Given the description of an element on the screen output the (x, y) to click on. 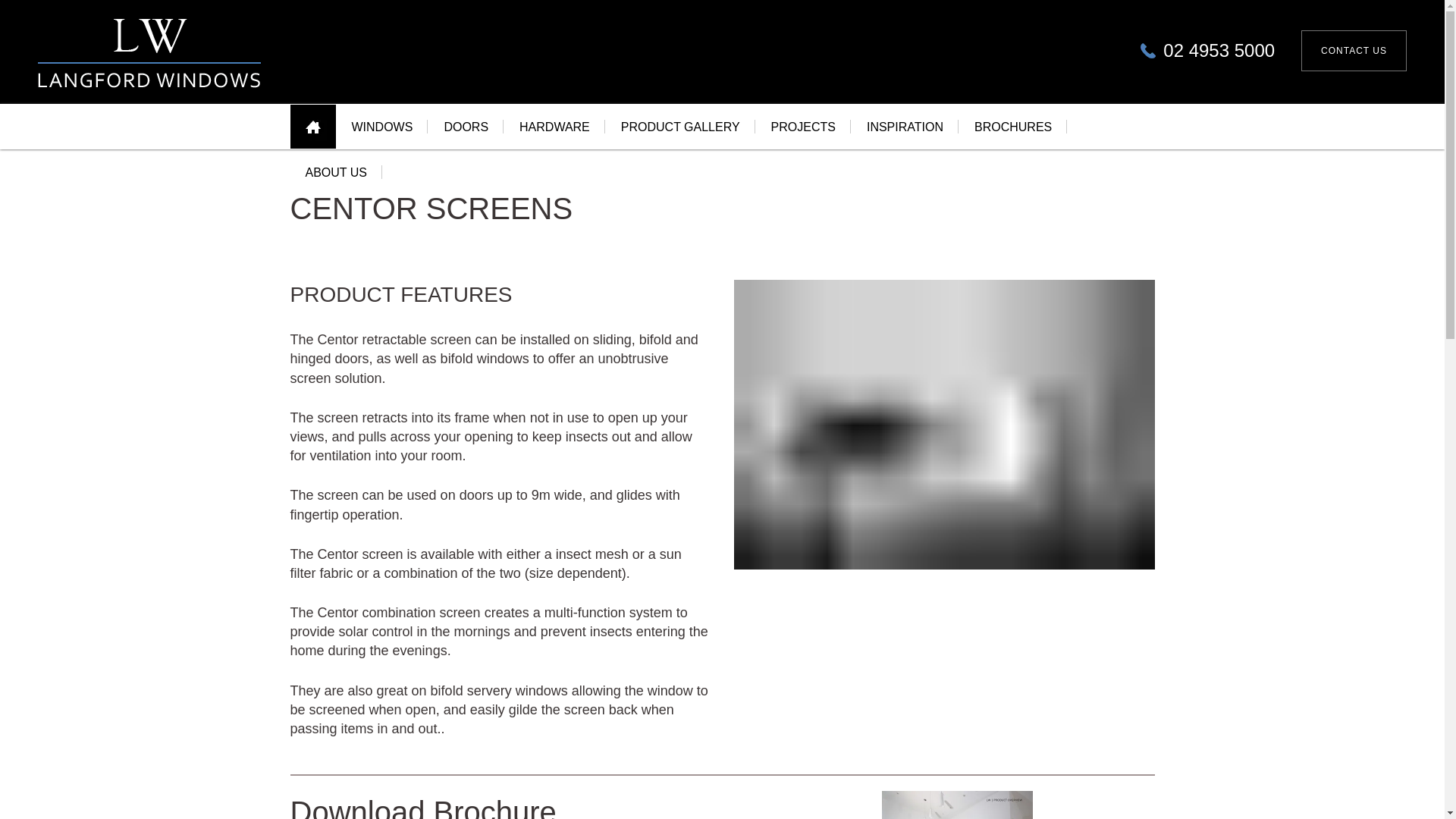
HARDWARE (554, 126)
CONTACT US (1353, 62)
PRODUCT GALLERY (680, 126)
WINDOWS (382, 135)
HOME (311, 136)
DOORS (465, 127)
02 4953 5000 (1207, 63)
